Given the description of an element on the screen output the (x, y) to click on. 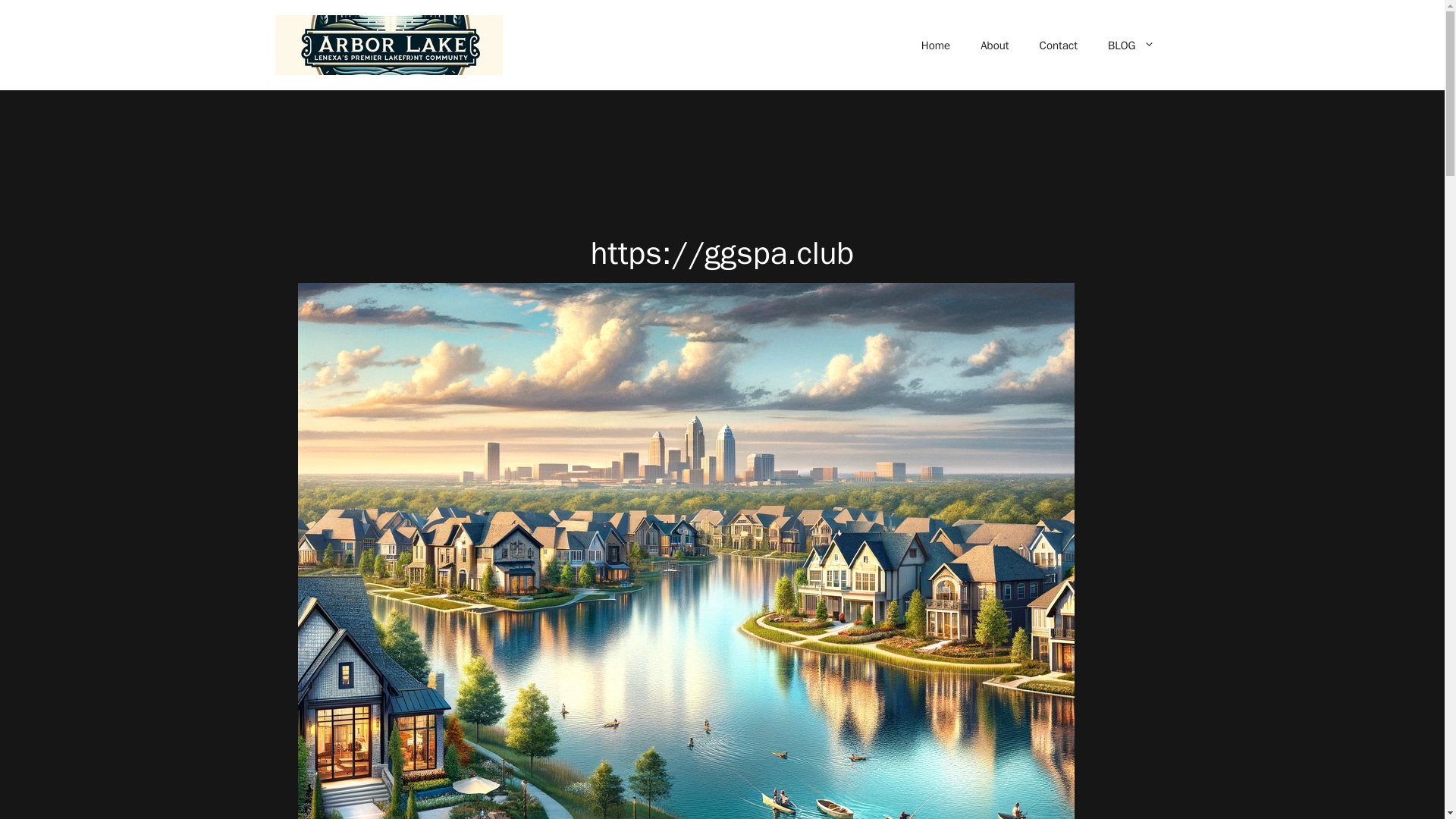
CONTACT (1058, 41)
Welcome to Arbor Lake (366, 296)
BLOG (1138, 41)
HOME (920, 41)
ABOUT (984, 41)
